Given the description of an element on the screen output the (x, y) to click on. 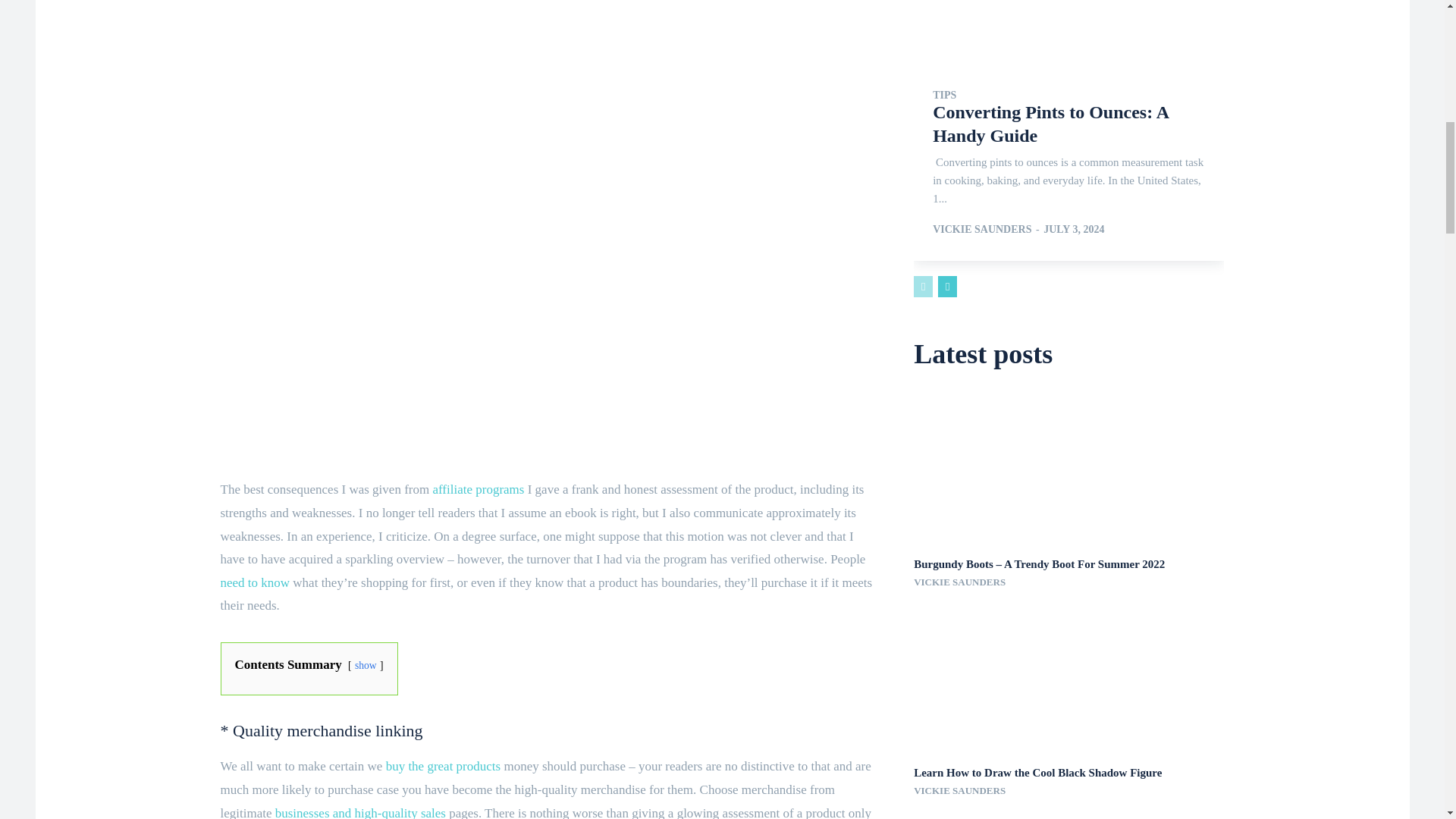
Converting Pints to Ounces: A Handy Guide (1069, 32)
